Given the description of an element on the screen output the (x, y) to click on. 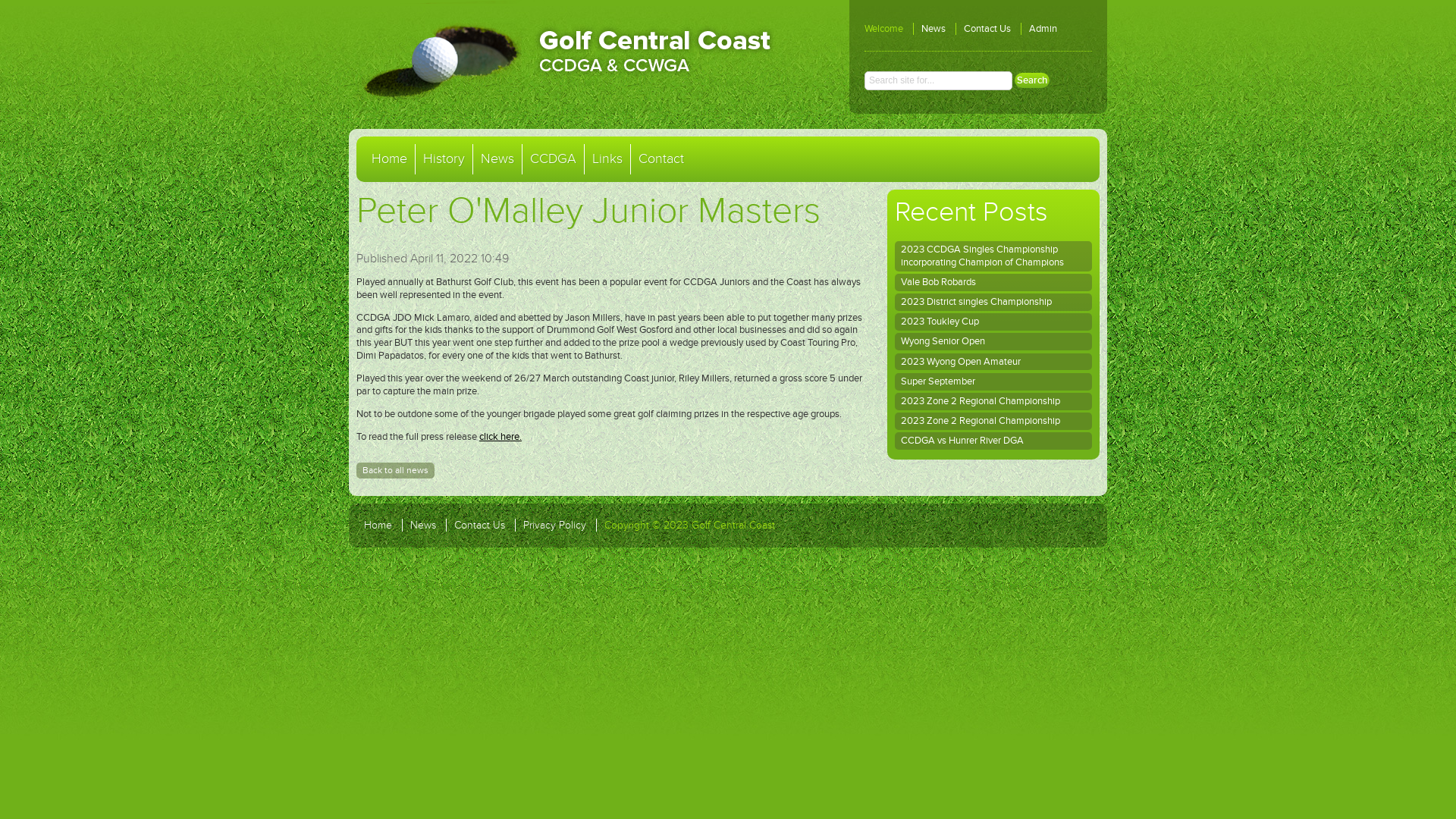
Privacy Policy Element type: text (554, 524)
Search Element type: text (1031, 79)
Wyong Senior Open Element type: text (993, 341)
Back to all news Element type: text (395, 470)
2023 Zone 2 Regional Championship Element type: text (993, 401)
Contact Element type: text (660, 159)
2023 Zone 2 Regional Championship Element type: text (993, 420)
Links Element type: text (606, 159)
History Element type: text (443, 159)
CCDGA Element type: text (552, 159)
Home Element type: text (378, 524)
News Element type: text (496, 159)
News Element type: text (423, 524)
2023 Wyong Open Amateur Element type: text (993, 361)
Vale Bob Robards Element type: text (993, 282)
CCDGA vs Hunrer River DGA Element type: text (993, 440)
2023 Toukley Cup Element type: text (993, 321)
Admin Element type: text (1043, 28)
Super September Element type: text (993, 381)
click here. Element type: text (500, 436)
News Element type: text (933, 28)
2023 District singles Championship Element type: text (993, 301)
Contact Us Element type: text (986, 28)
Home Element type: text (389, 159)
Contact Us Element type: text (479, 524)
